Given the description of an element on the screen output the (x, y) to click on. 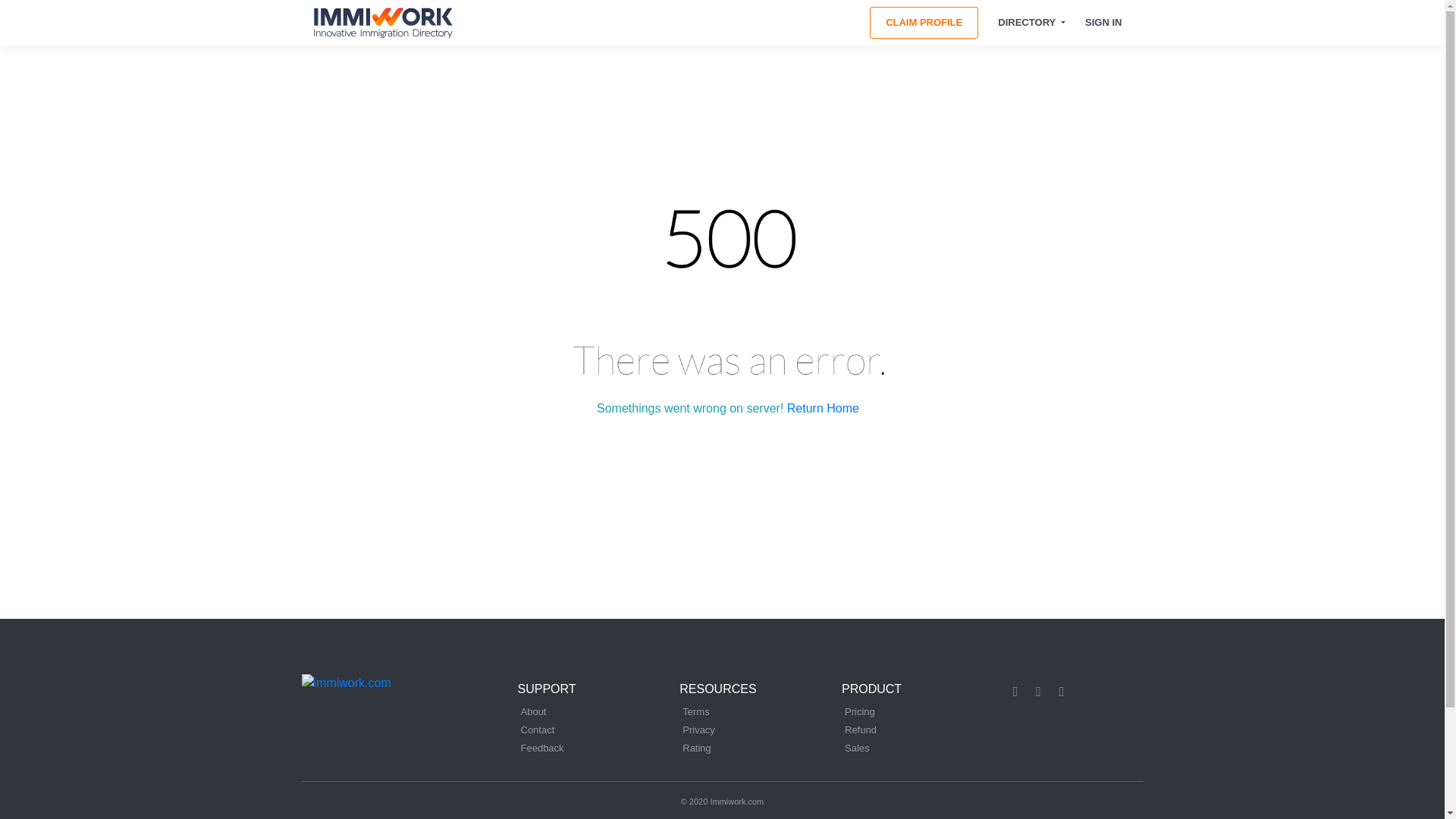
About (532, 711)
Contact (536, 729)
Feedback (541, 748)
CLAIM PROFILE (923, 22)
SIGN IN (1103, 22)
Terms (695, 711)
DIRECTORY (1031, 22)
Pricing (859, 711)
Rating (696, 748)
Return Home (823, 408)
